Given the description of an element on the screen output the (x, y) to click on. 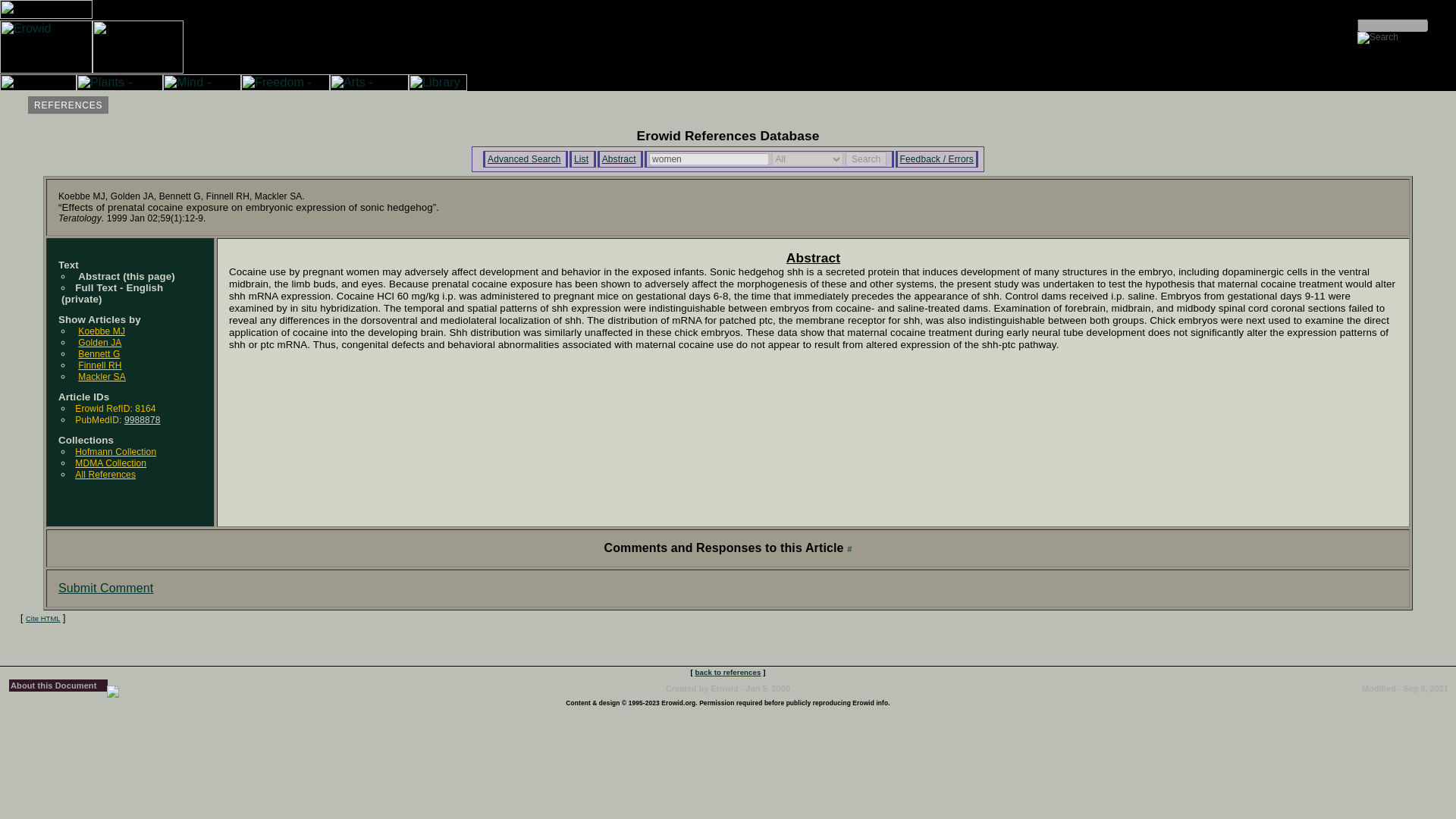
Search (865, 159)
women (708, 159)
women (708, 159)
Search (865, 159)
